Given the description of an element on the screen output the (x, y) to click on. 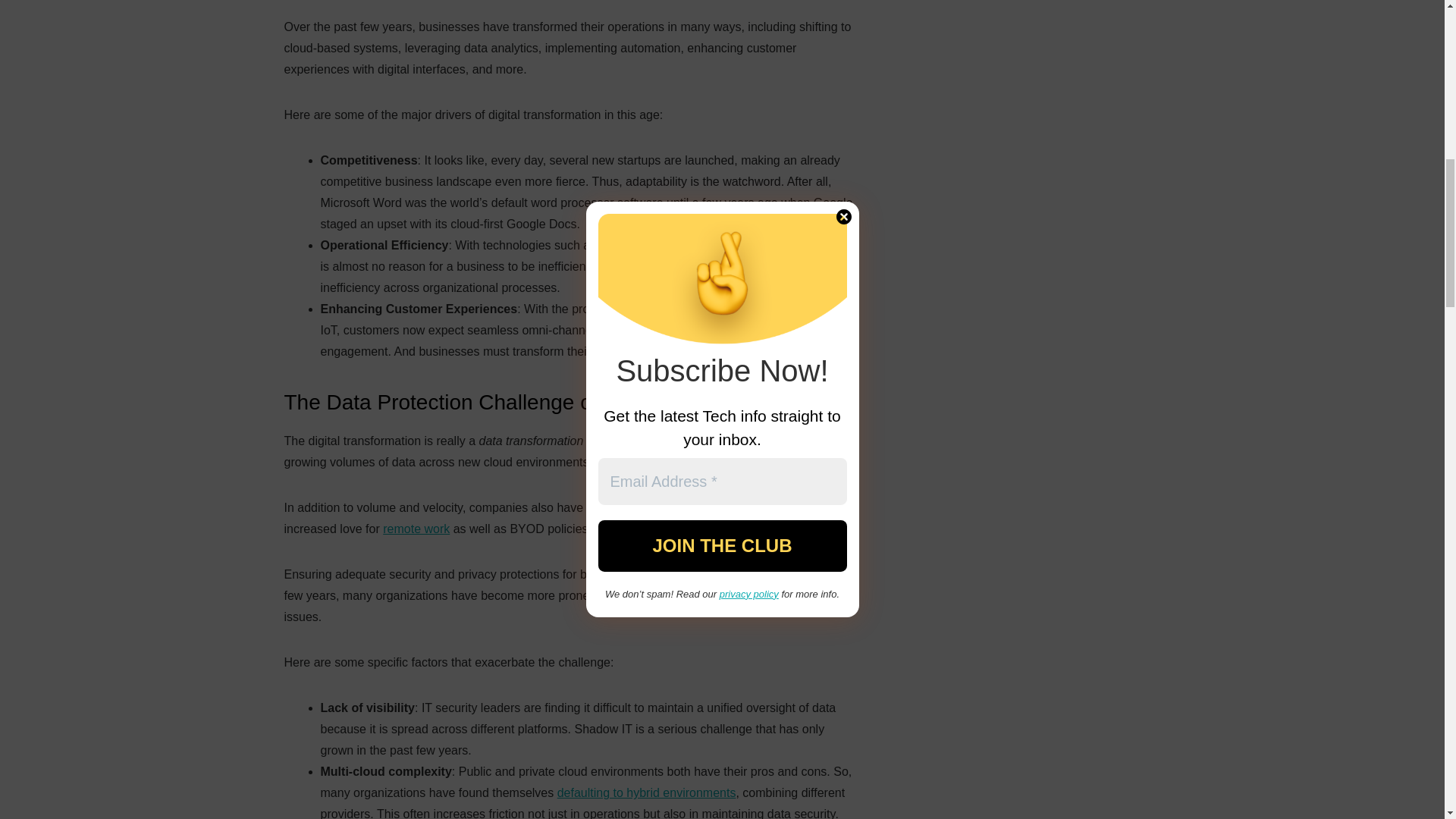
defaulting to hybrid environments (646, 792)
remote work (415, 528)
machine learning (663, 245)
